Given the description of an element on the screen output the (x, y) to click on. 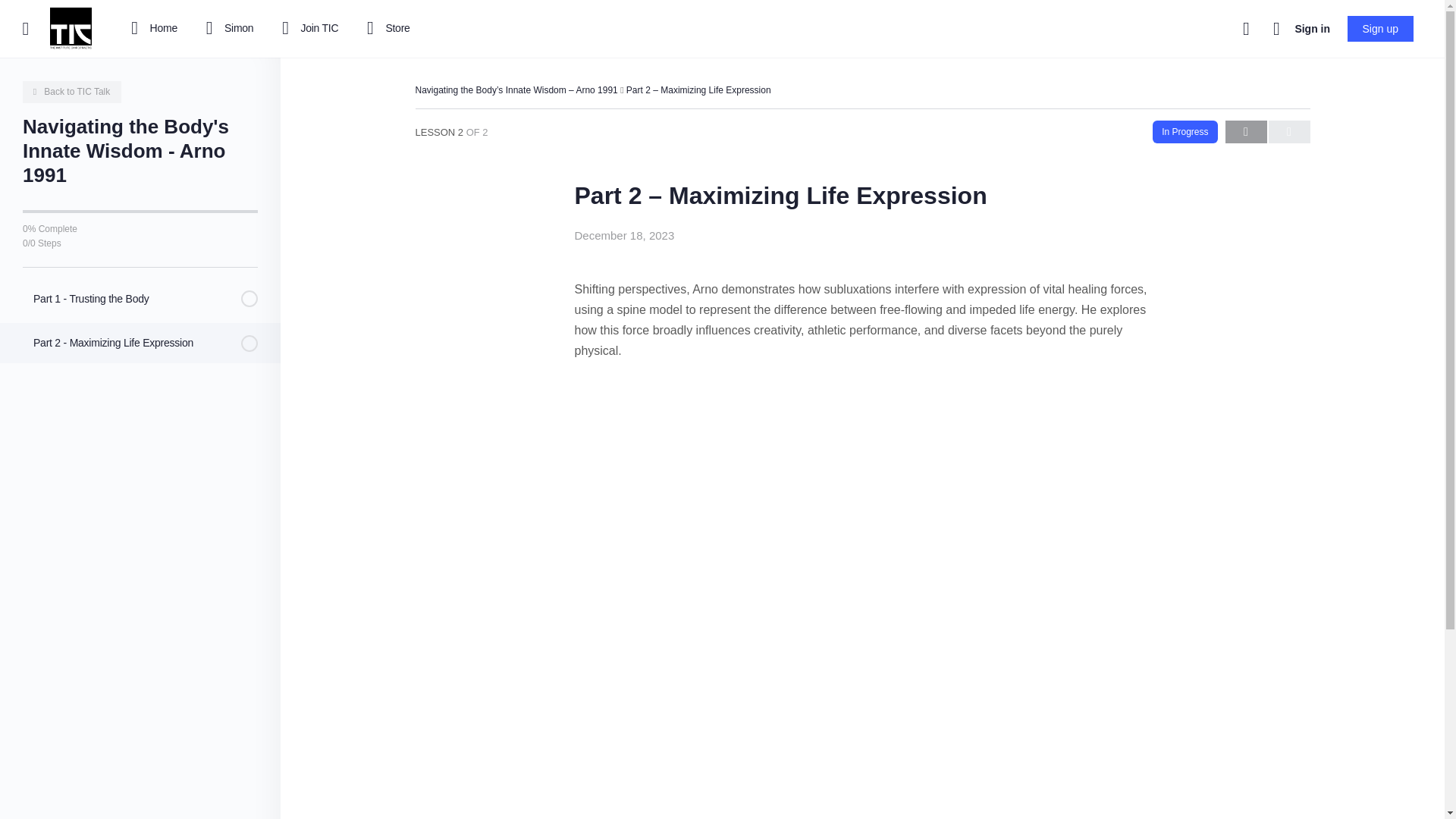
Sign in (1312, 28)
Part 1 - Trusting the Body (140, 298)
Sign up (1379, 28)
Back to TIC Talk (71, 92)
Navigating the Body's Innate Wisdom - Arno 1991 (71, 92)
Part 2 - Maximizing Life Expression (140, 342)
Join TIC (306, 28)
Home (150, 28)
Part 1 - Trusting the Body (140, 298)
Simon (226, 28)
